Given the description of an element on the screen output the (x, y) to click on. 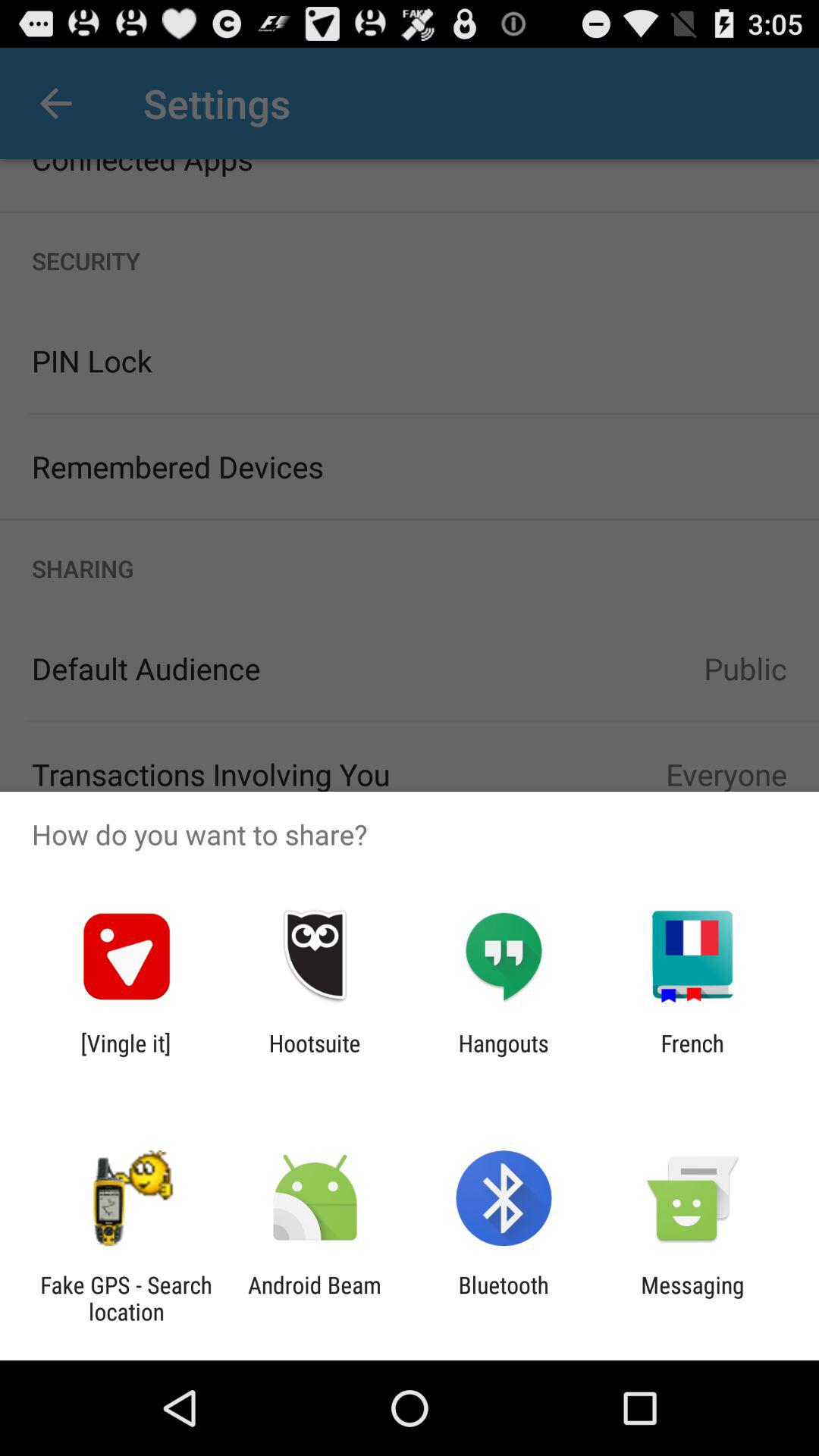
turn off icon next to the bluetooth (692, 1298)
